Given the description of an element on the screen output the (x, y) to click on. 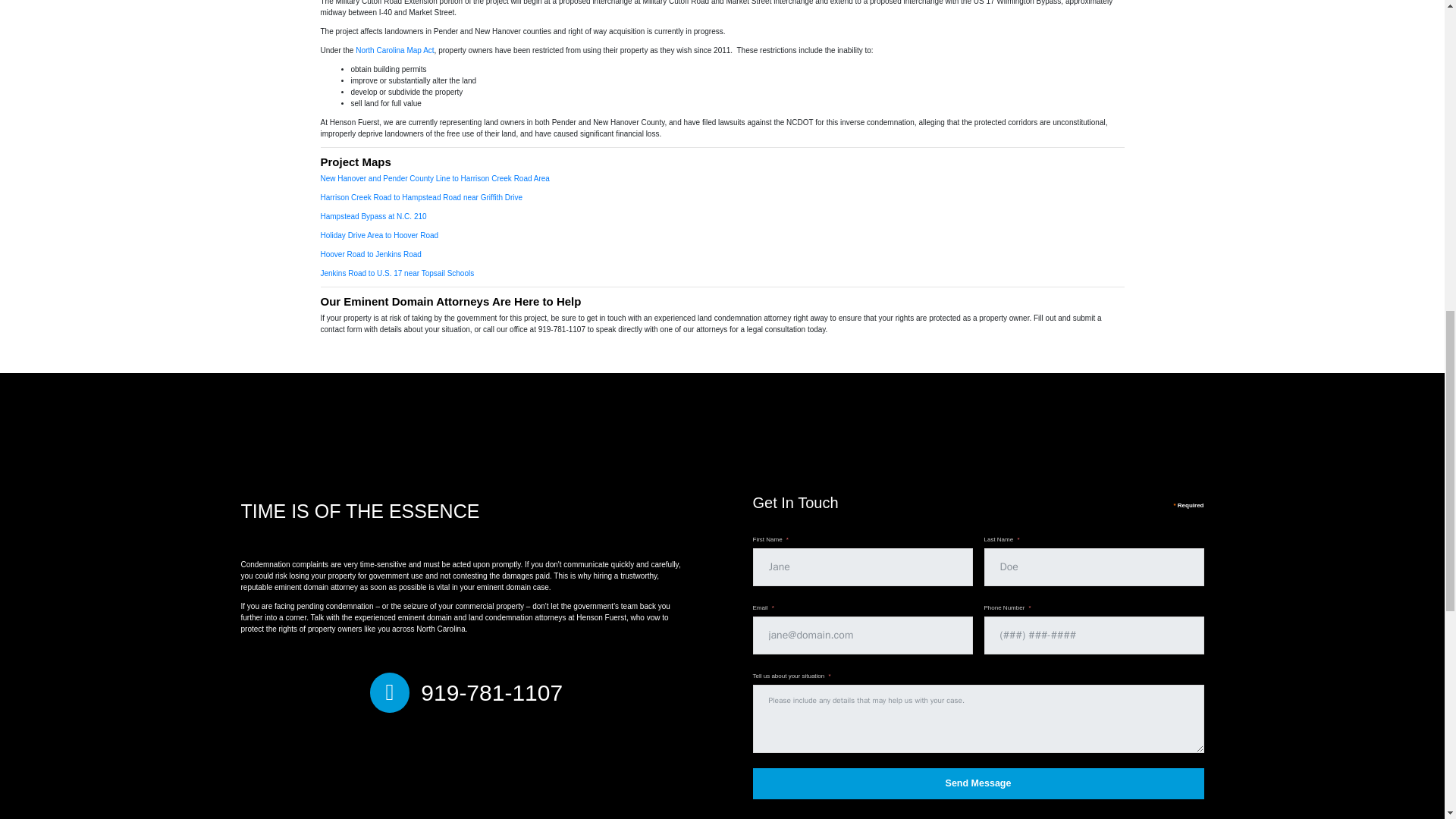
Hampstead Bypass at N.C. 210 (373, 216)
Jenkins Road to U.S. 17 near Topsail Schools (397, 273)
Hoover Road to Jenkins Road (370, 254)
Holiday Drive Area to Hoover Road (379, 234)
Harrison Creek Road to Hampstead Road near Griffith Drive (421, 197)
North Carolina Map Act (394, 49)
